Given the description of an element on the screen output the (x, y) to click on. 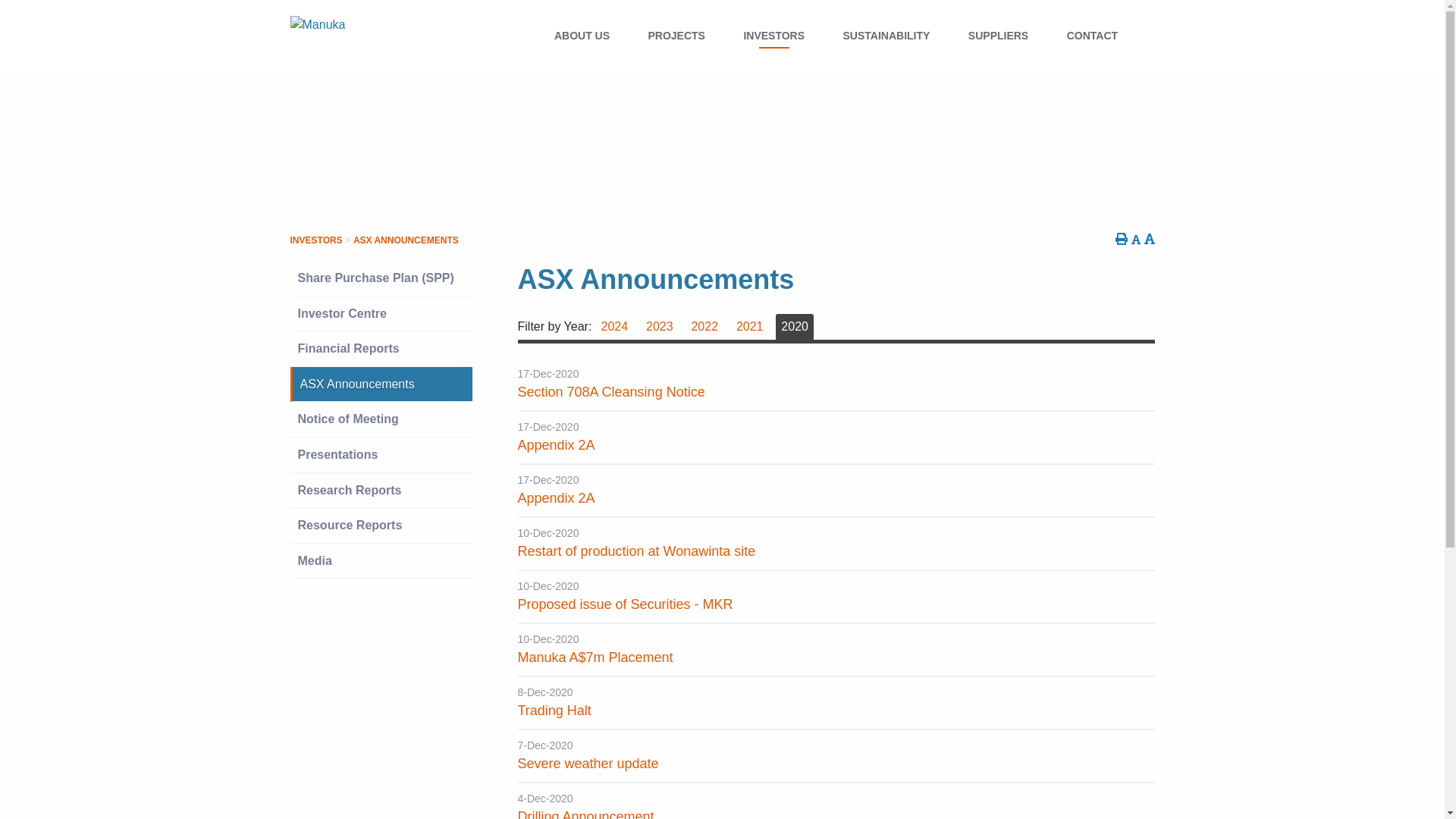
ABOUT US (582, 35)
Font Larger (1148, 238)
INVESTORS (773, 35)
ASX ANNOUNCEMENTS (404, 239)
PROJECTS (676, 35)
Font Smaller (1135, 239)
SUSTAINABILITY (886, 35)
CONTACT (1092, 35)
Print Page (1120, 238)
INVESTORS (315, 239)
SUPPLIERS (997, 35)
